Given the description of an element on the screen output the (x, y) to click on. 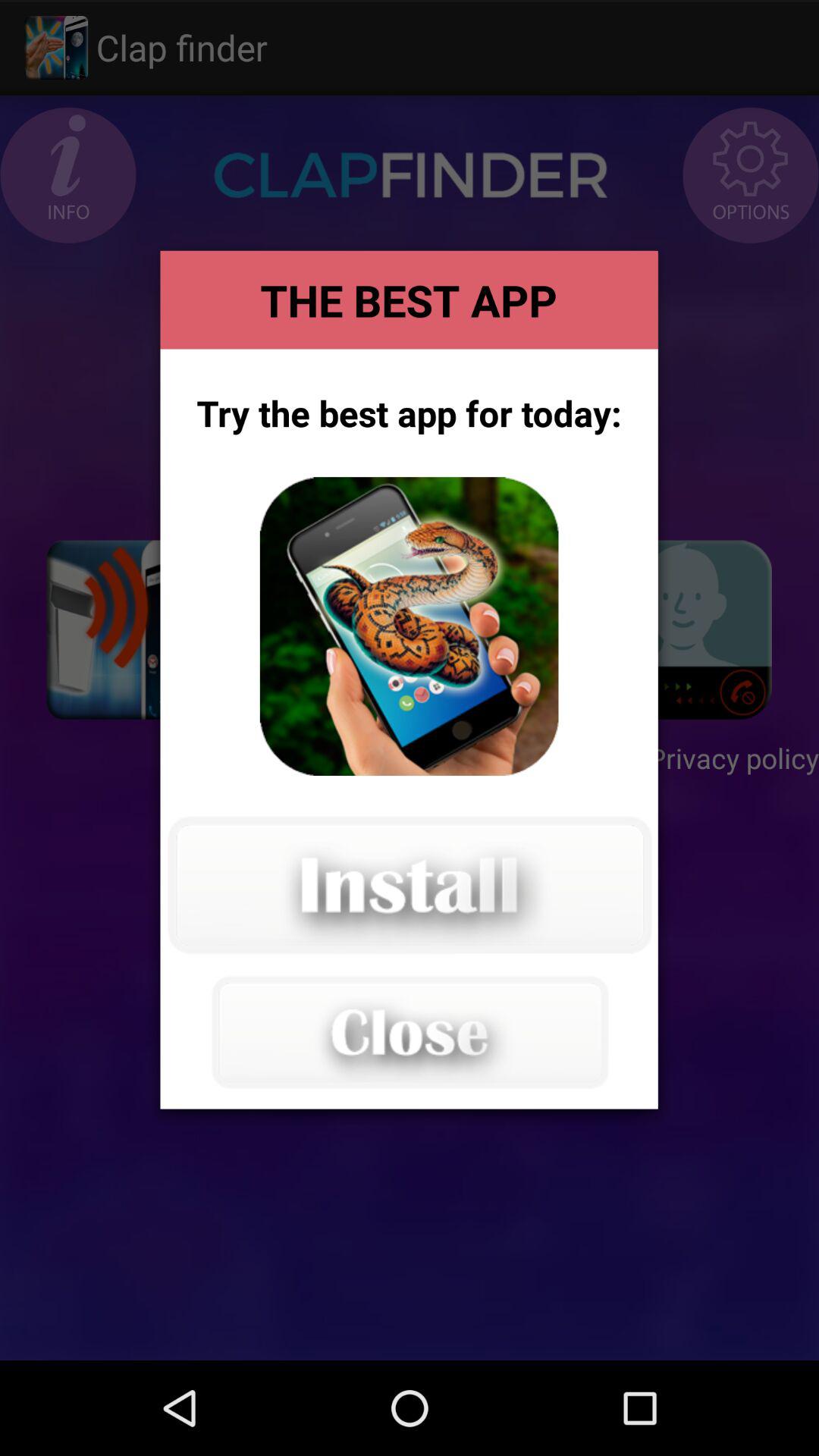
close the popup (409, 1031)
